Given the description of an element on the screen output the (x, y) to click on. 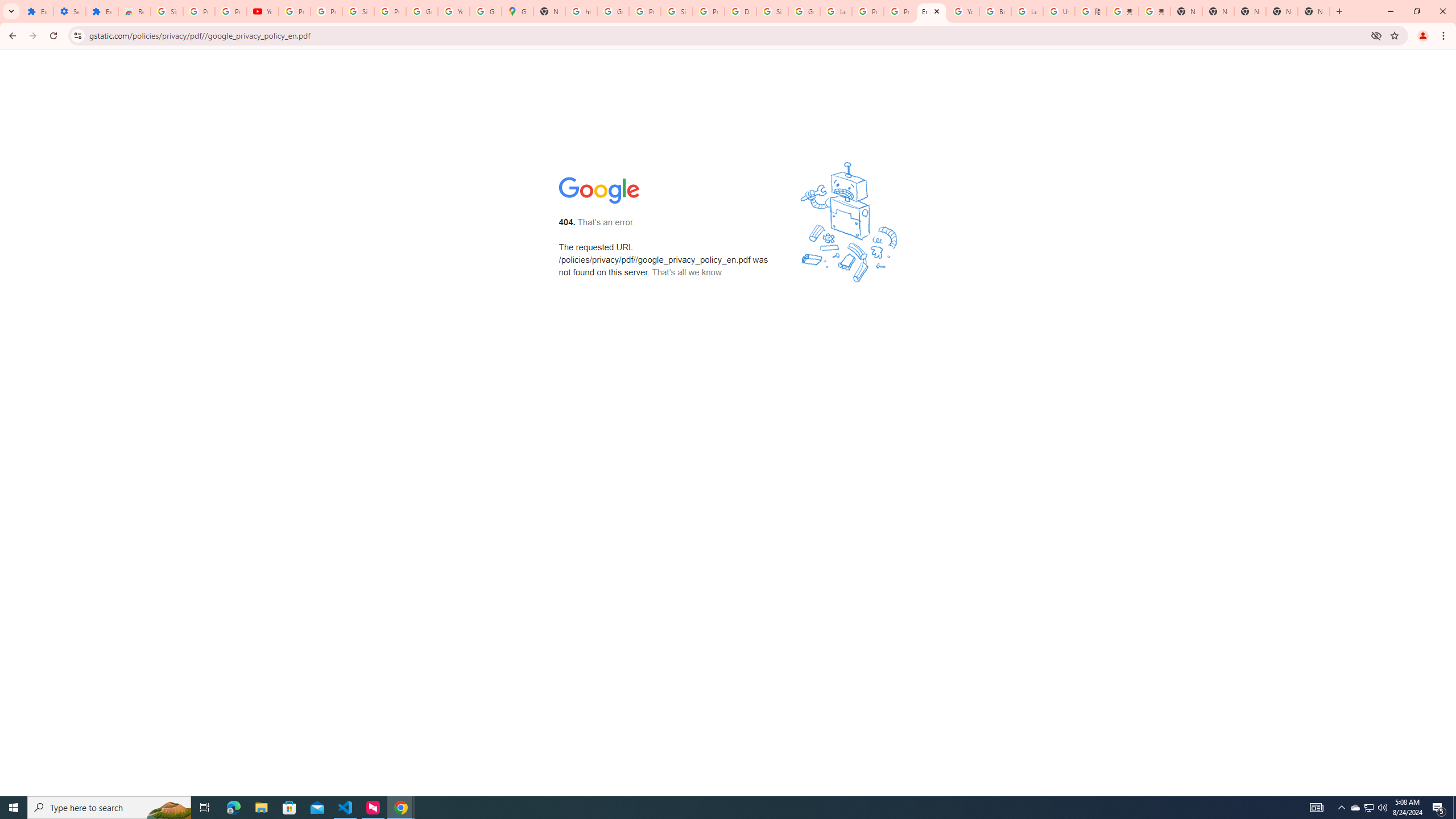
Sign in - Google Accounts (358, 11)
Error 404 (Not Found)!!1 (931, 11)
Privacy Help Center - Policies Help (899, 11)
Google Account (421, 11)
